Given the description of an element on the screen output the (x, y) to click on. 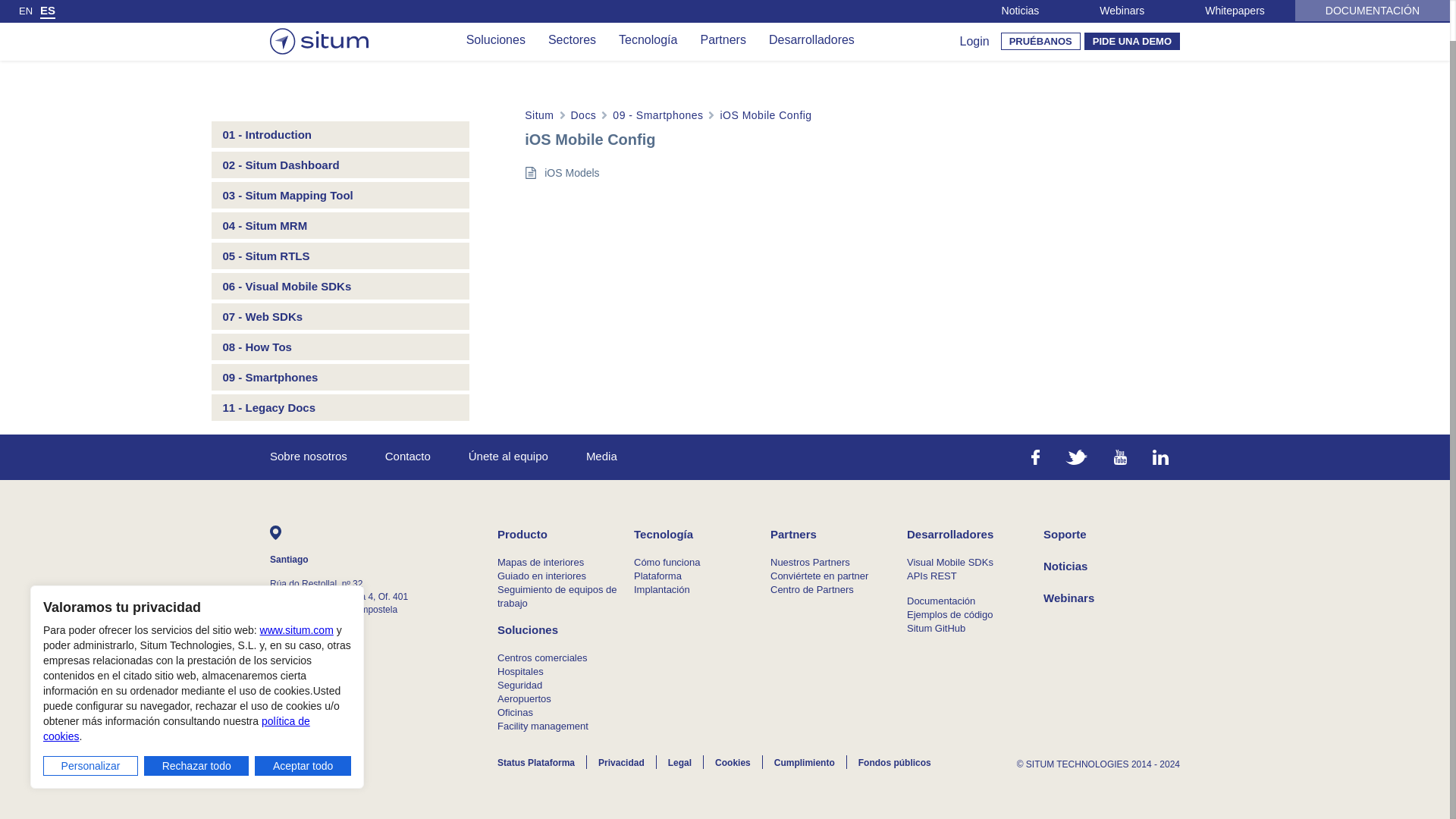
Rechazar todo (196, 722)
Aceptar todo (302, 722)
www.situm.com (296, 586)
Personalizar (90, 722)
